Given the description of an element on the screen output the (x, y) to click on. 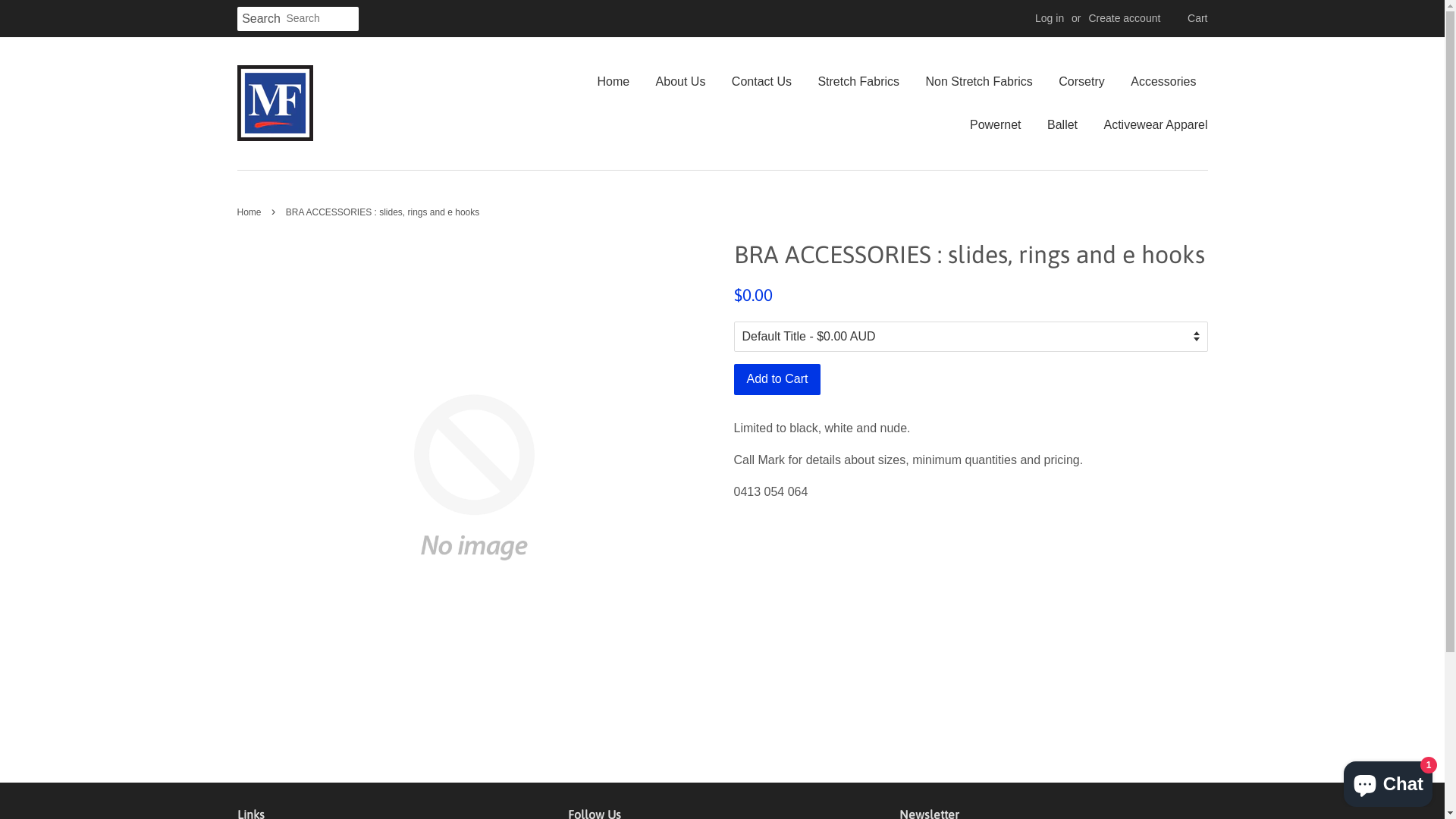
Ballet Element type: text (1061, 124)
Home Element type: text (618, 81)
Home Element type: text (250, 212)
Create account Element type: text (1124, 18)
Contact Us Element type: text (761, 81)
Add to Cart Element type: text (777, 379)
About Us Element type: text (680, 81)
Log in Element type: text (1049, 18)
Cart Element type: text (1197, 18)
Accessories Element type: text (1163, 81)
Shopify online store chat Element type: hover (1388, 780)
Corsetry Element type: text (1081, 81)
Stretch Fabrics Element type: text (858, 81)
Search Element type: text (260, 18)
Activewear Apparel Element type: text (1149, 124)
Non Stretch Fabrics Element type: text (978, 81)
Powernet Element type: text (995, 124)
